Given the description of an element on the screen output the (x, y) to click on. 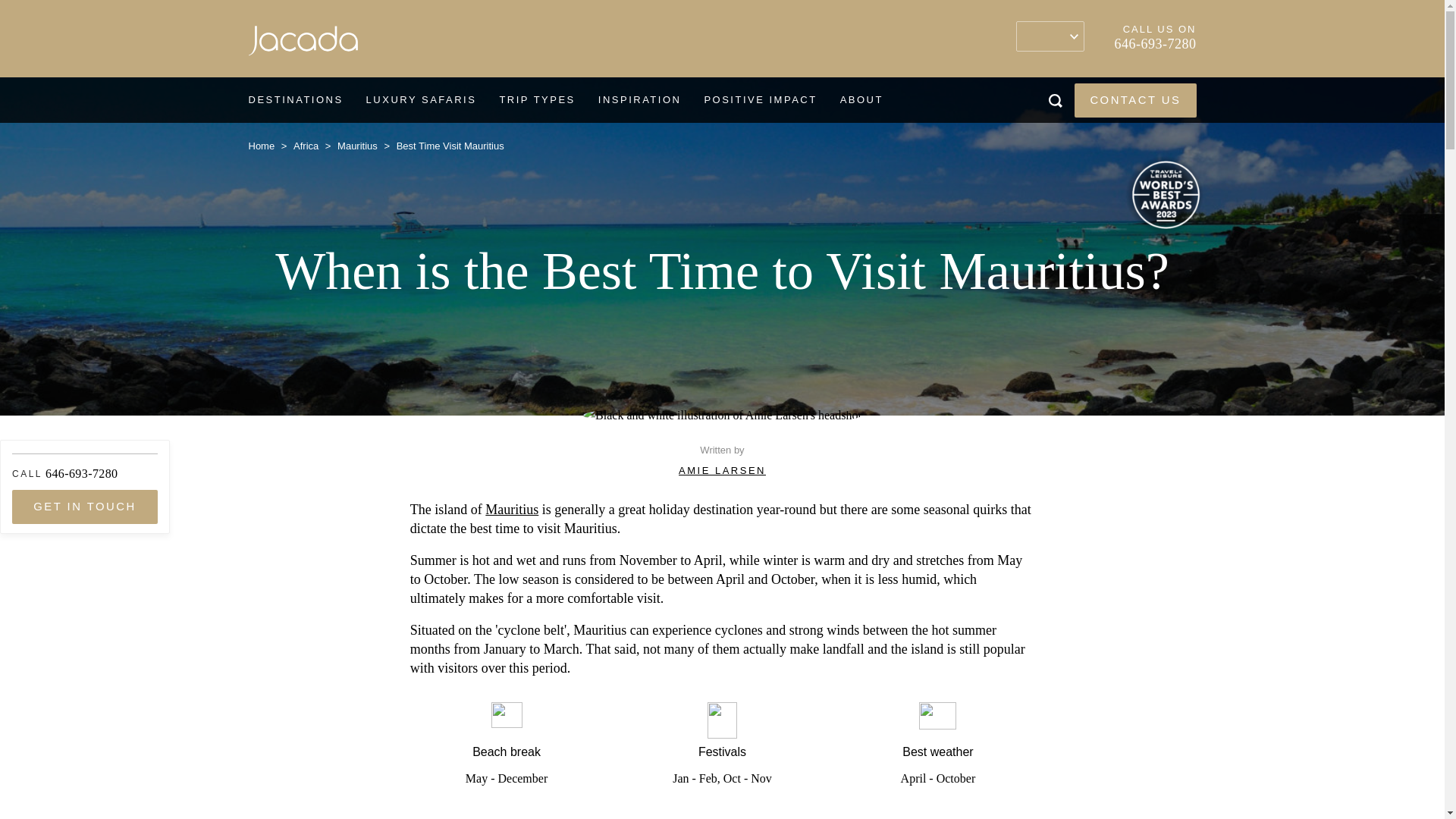
646-693-7280 (1155, 43)
DESTINATIONS (294, 99)
Jacada Travel (303, 43)
